Given the description of an element on the screen output the (x, y) to click on. 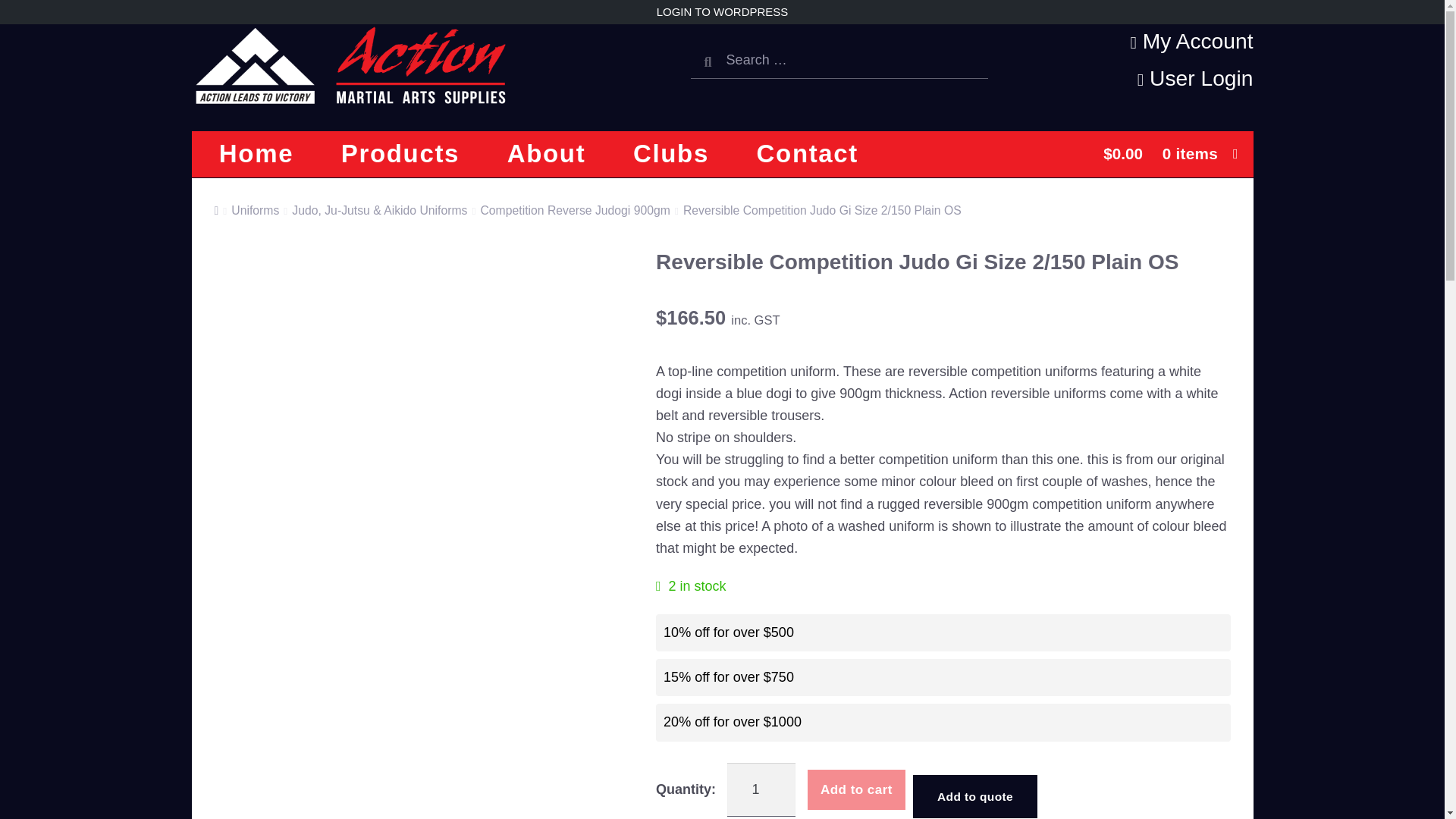
My Account (1135, 40)
View your shopping cart (1101, 154)
Add to cart (856, 789)
User Login (1135, 78)
Add to quote (974, 796)
Competition Reverse Judogi 900gm (574, 210)
About (545, 153)
